Given the description of an element on the screen output the (x, y) to click on. 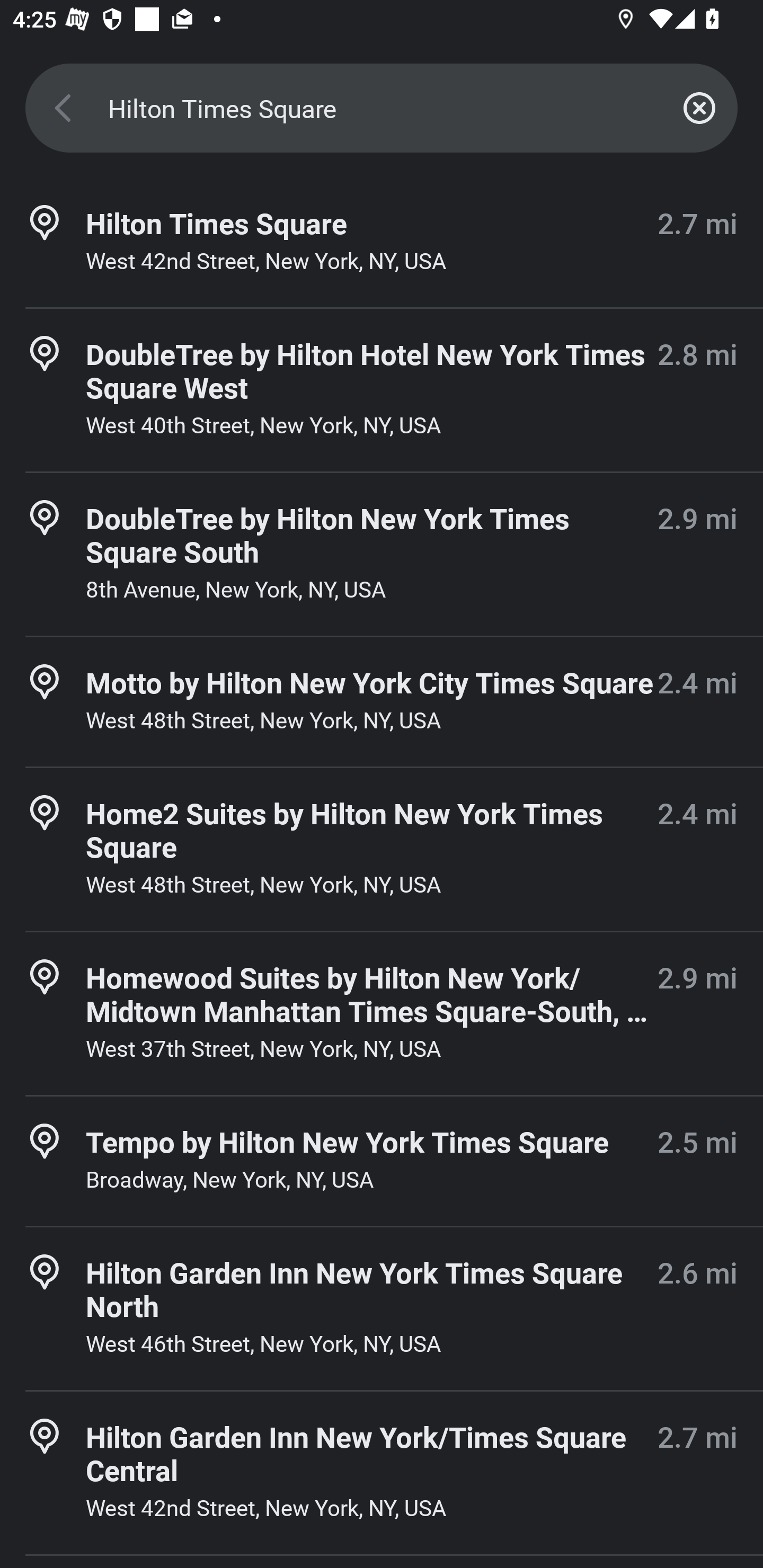
Hilton Times Square SEARCH_SCREEN_SEARCH_FIELD (381, 108)
